Given the description of an element on the screen output the (x, y) to click on. 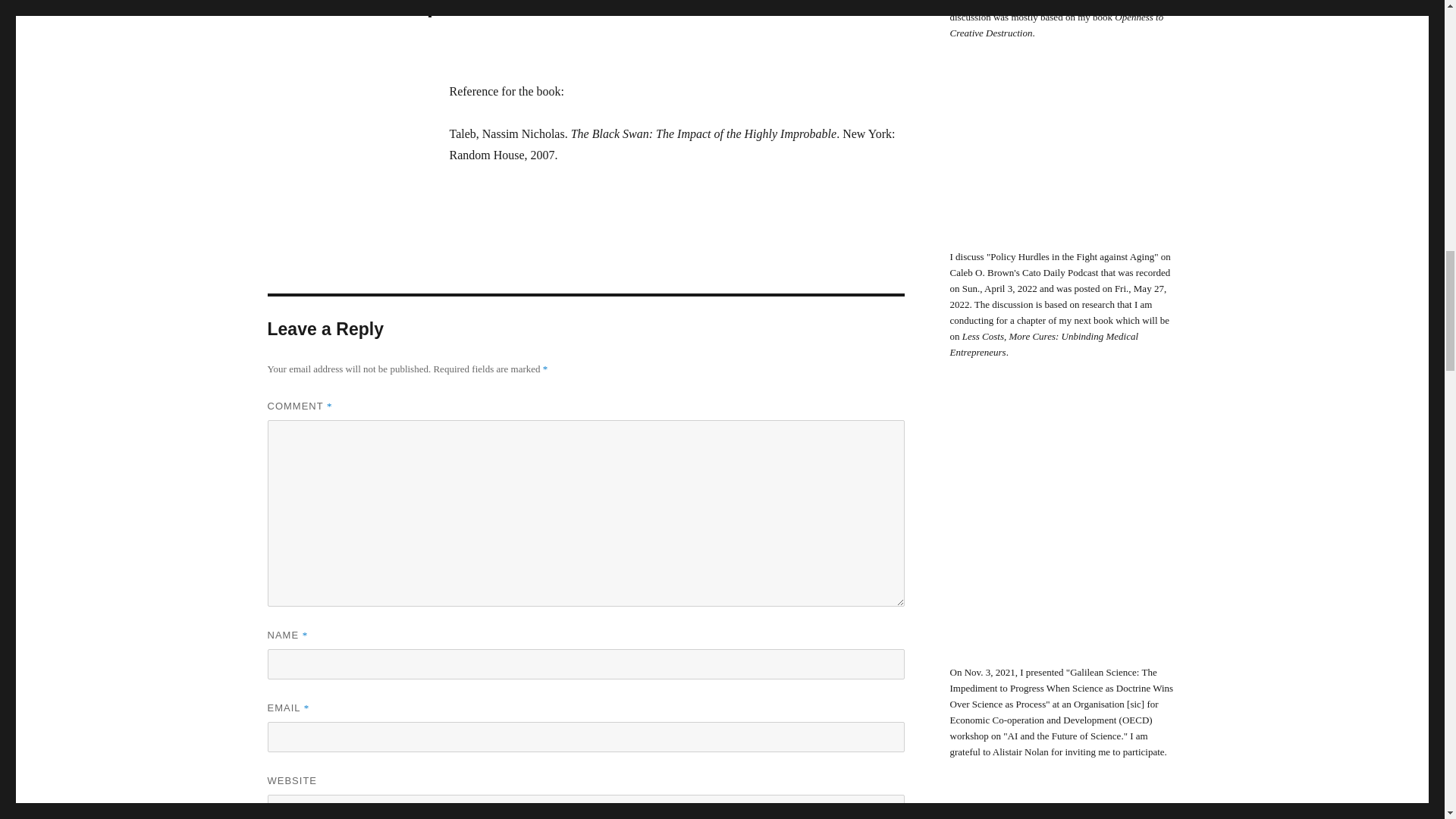
YouTube video player (1062, 527)
Embed Player (1062, 160)
